Given the description of an element on the screen output the (x, y) to click on. 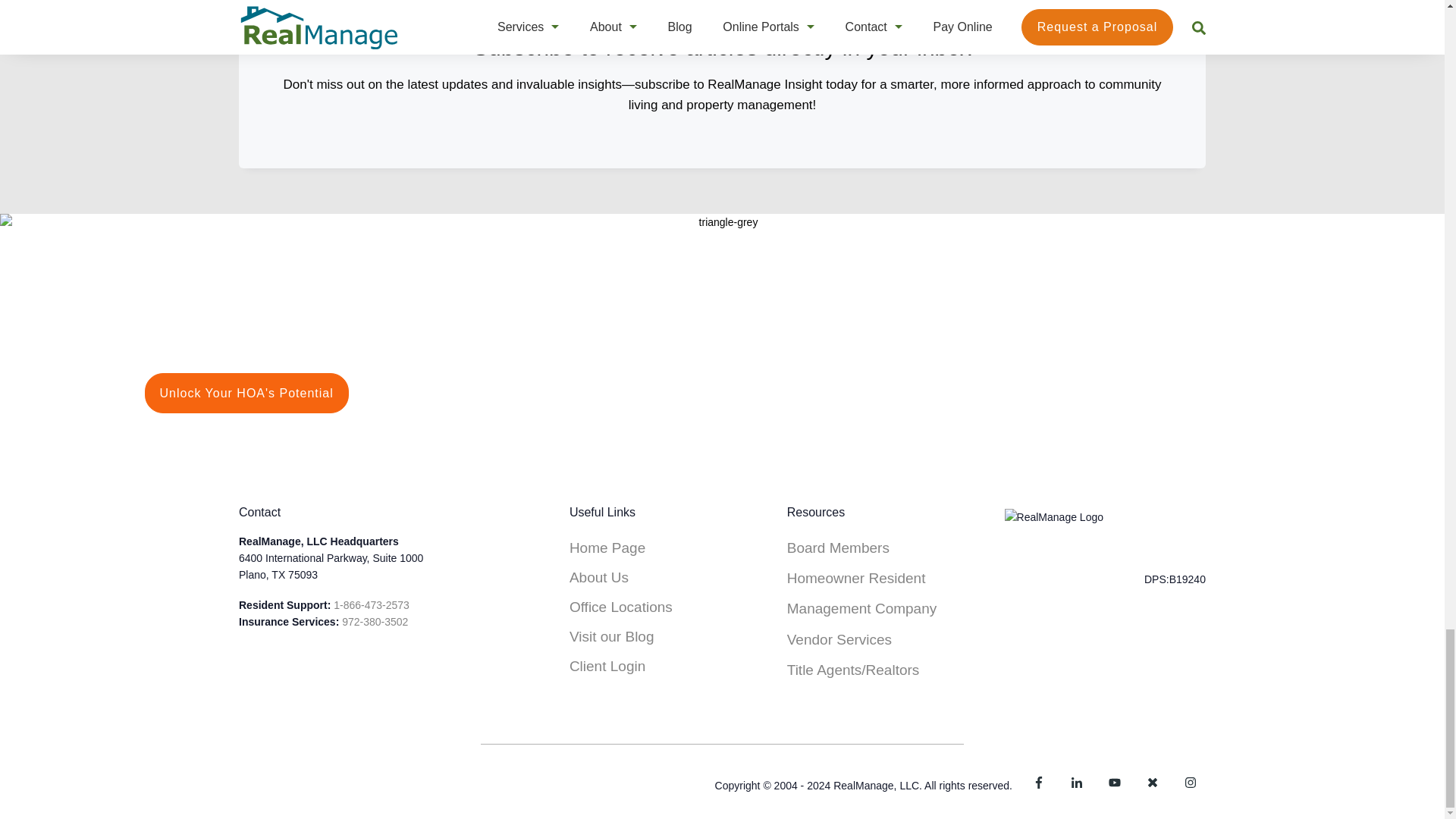
RealManage Logo (1053, 516)
